Given the description of an element on the screen output the (x, y) to click on. 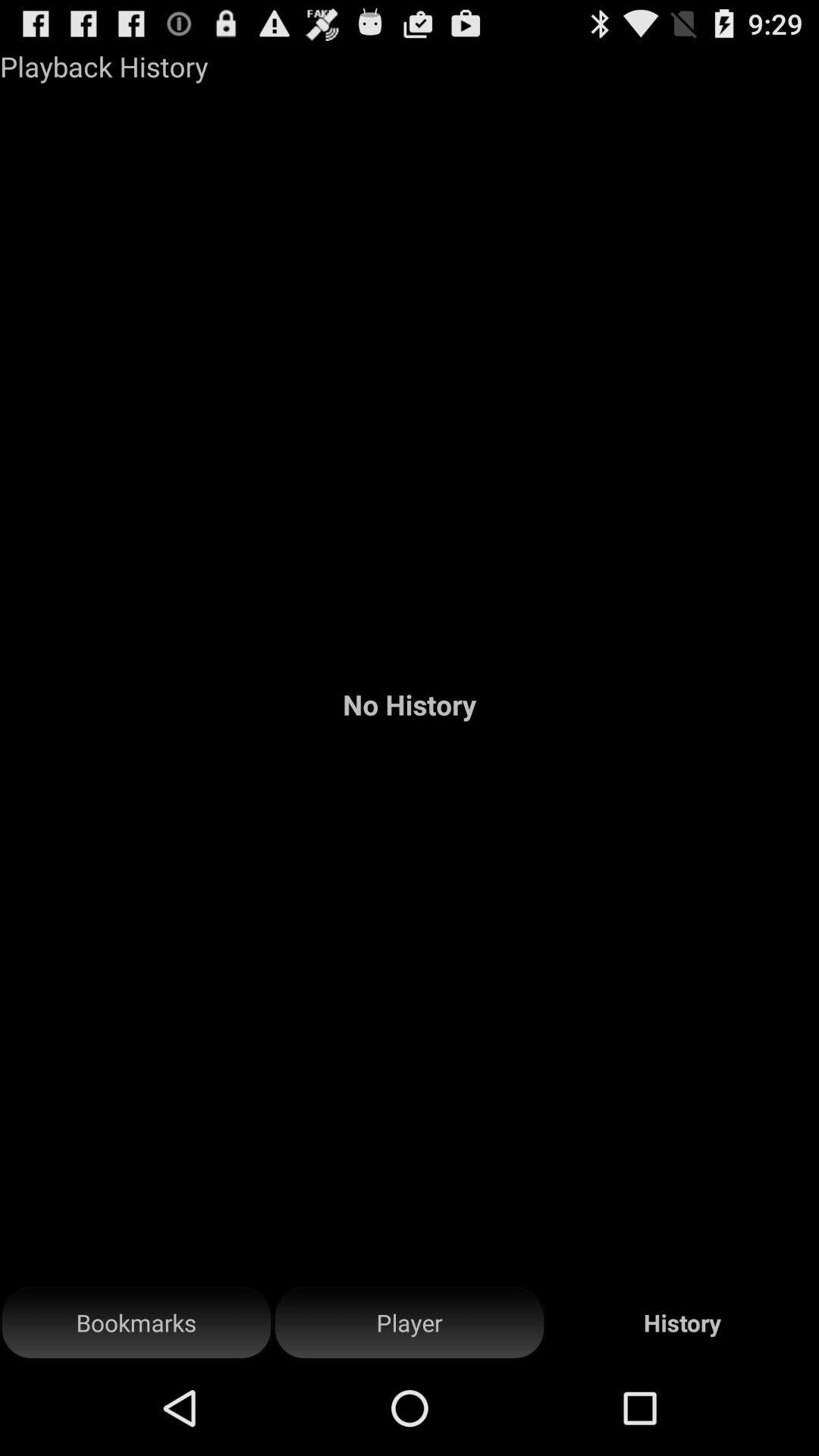
jump until the player icon (409, 1323)
